Given the description of an element on the screen output the (x, y) to click on. 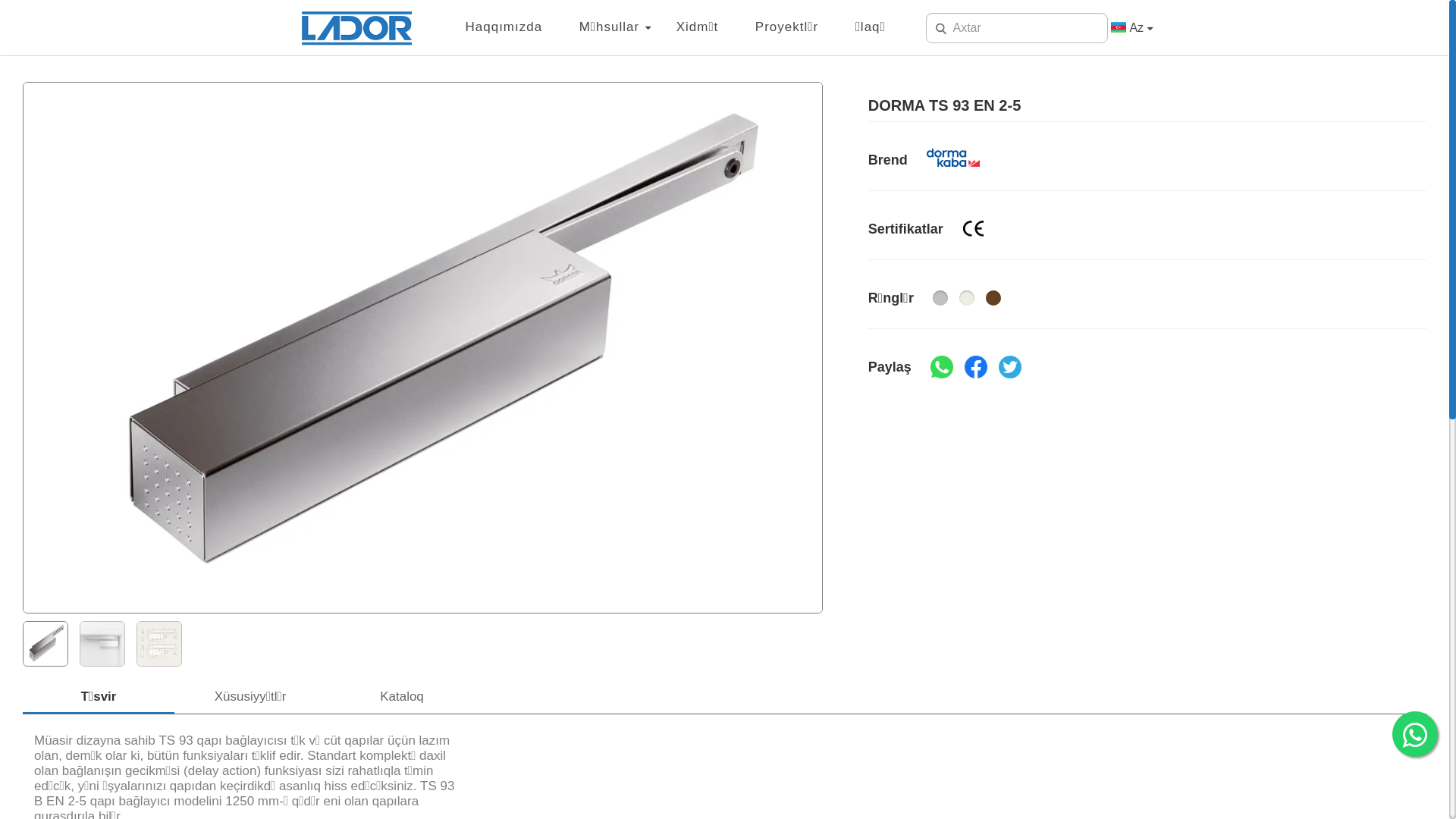
Dorma TS 93 En 2-5 Element type: hover (102, 642)
Dorma TS 93 En 2-5 Element type: hover (102, 643)
Lador Element type: hover (356, 28)
Dorma TS 93 En 2-5 Element type: hover (159, 642)
Dorma TS 93 En 2-5 Element type: hover (159, 643)
Dorma TS 93 En 2-5 Element type: hover (45, 643)
Dorma TS 93 En 2-5 Element type: hover (45, 642)
Kataloq Element type: text (401, 696)
Az Element type: text (1140, 27)
